Given the description of an element on the screen output the (x, y) to click on. 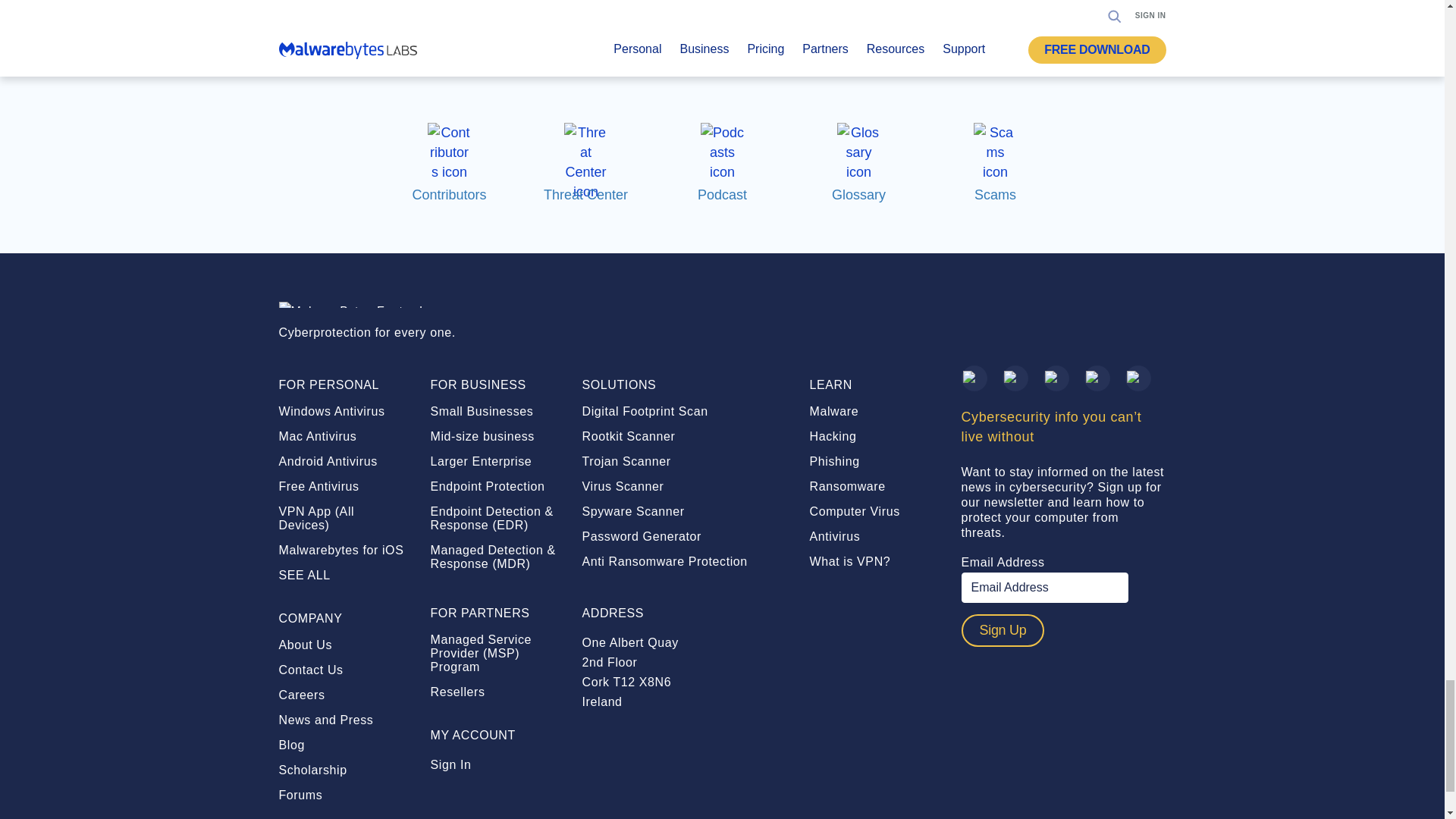
Sign Up (1002, 630)
